Given the description of an element on the screen output the (x, y) to click on. 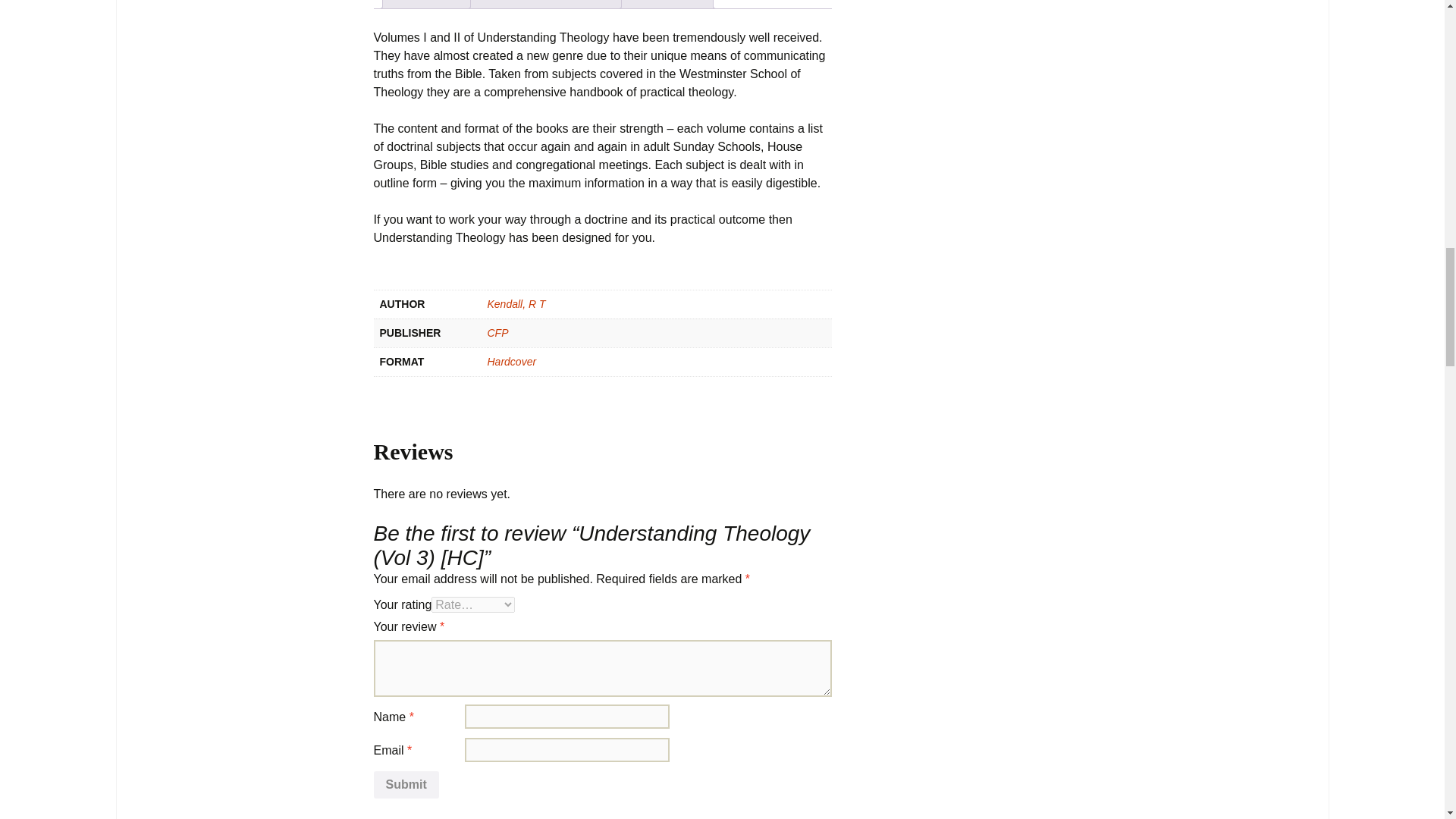
Submit (405, 784)
